Given the description of an element on the screen output the (x, y) to click on. 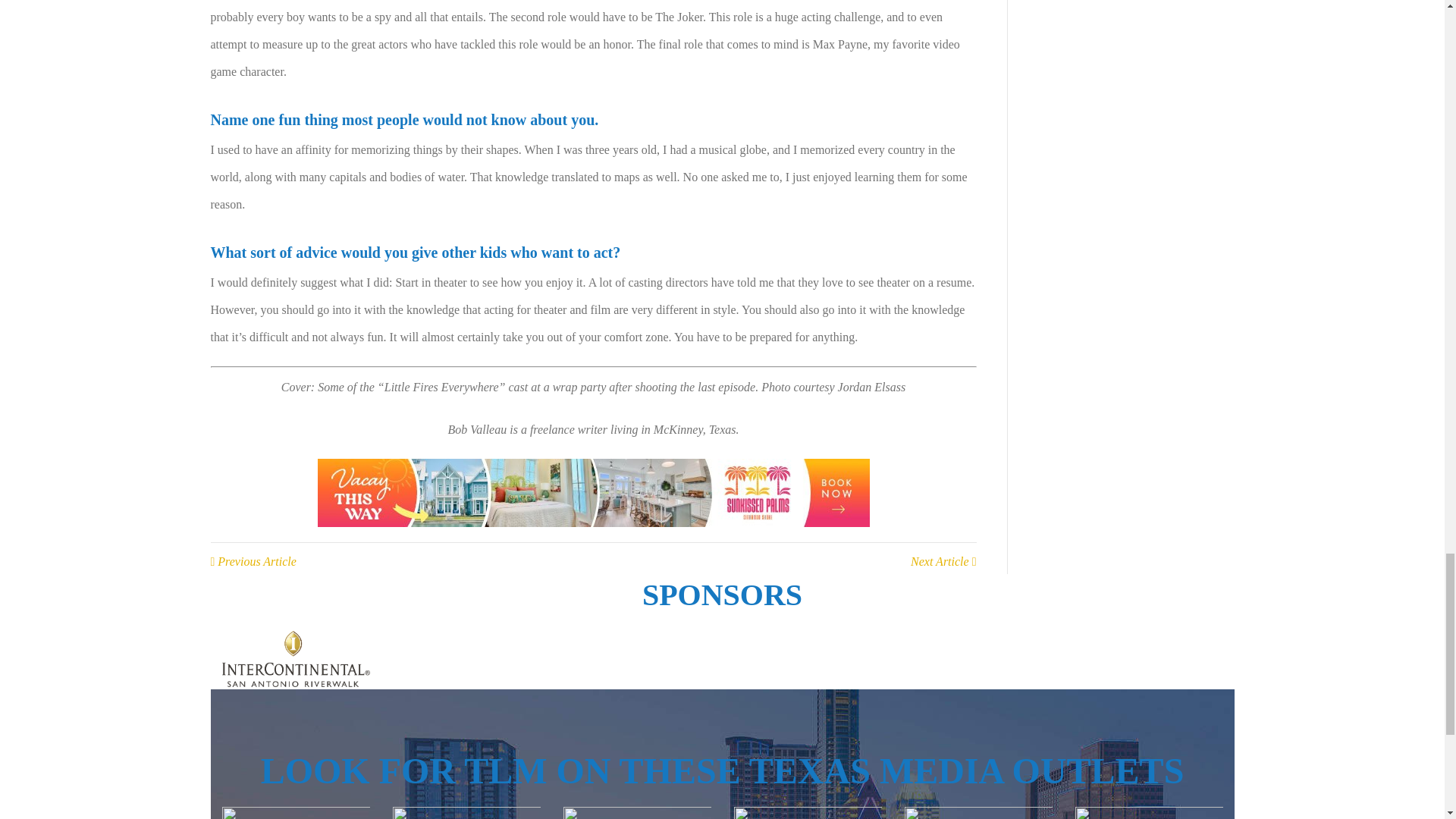
SA Living (977, 812)
Intercontinental SA Logo (295, 658)
KHOU (636, 812)
Daytime (807, 812)
KVUE (466, 812)
Studio 512 (1149, 812)
Daytime (295, 812)
